Given the description of an element on the screen output the (x, y) to click on. 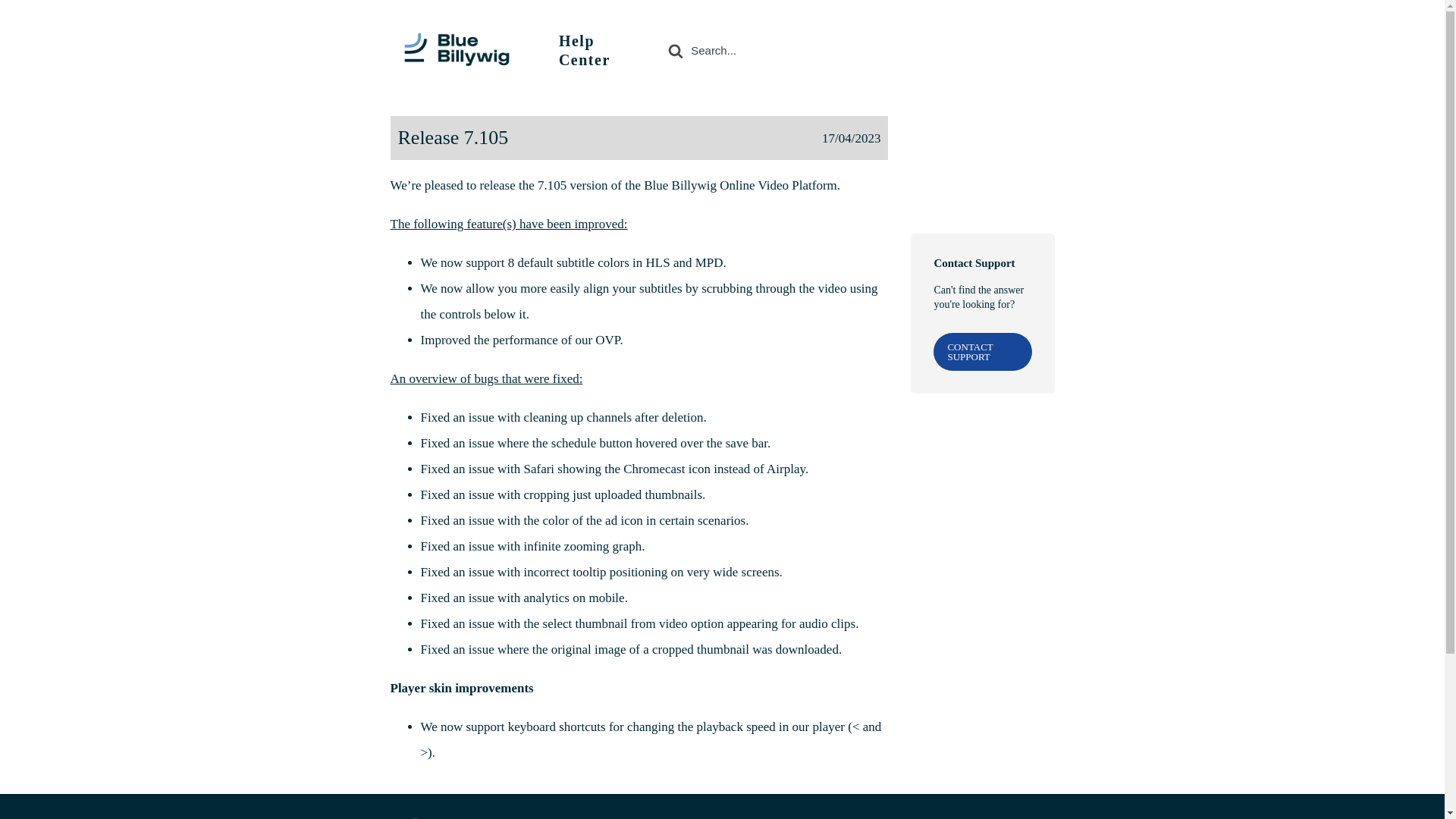
Status (974, 50)
Contact (1030, 50)
Topics (915, 50)
CONTACT SUPPORT (981, 351)
